Given the description of an element on the screen output the (x, y) to click on. 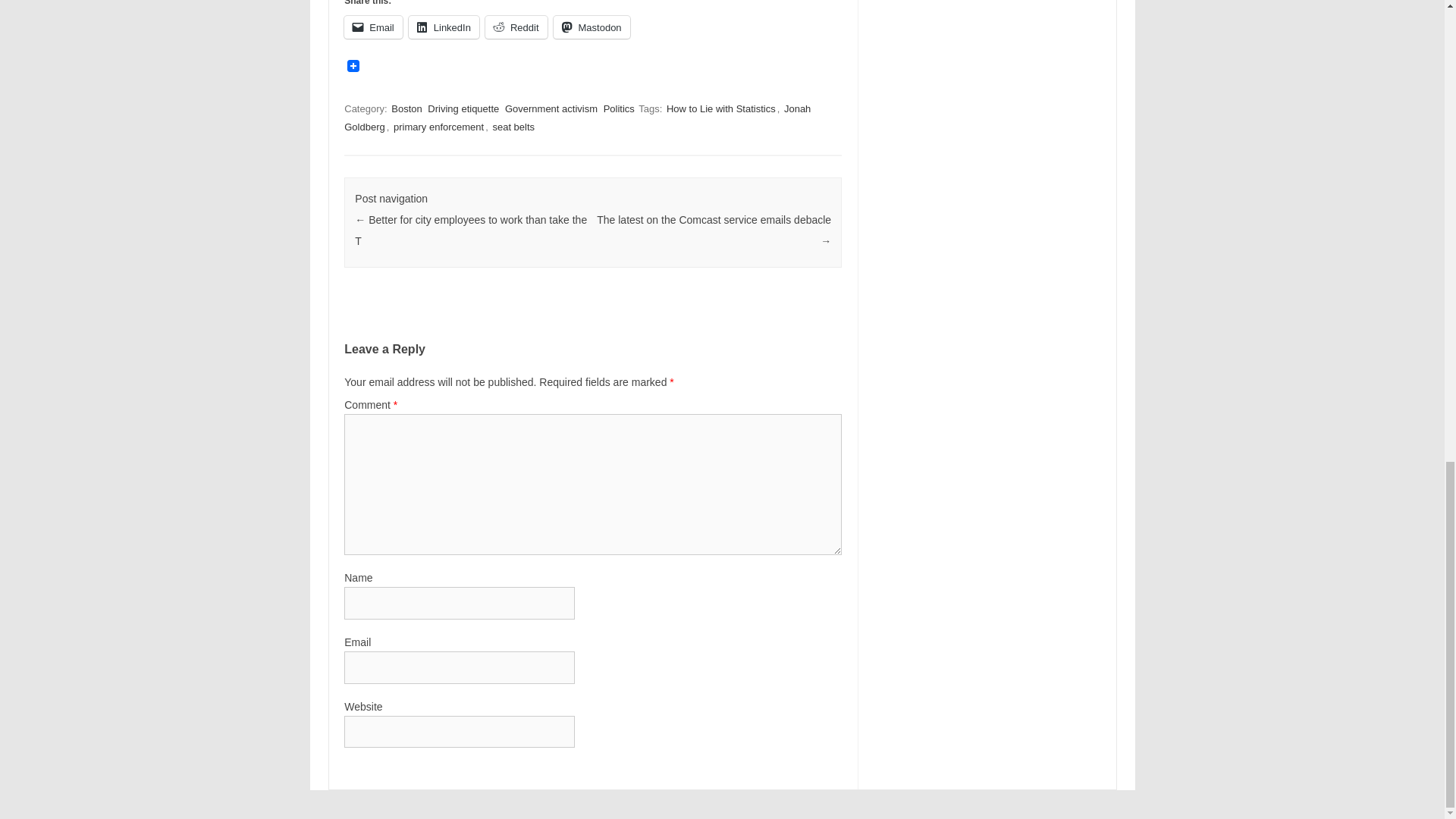
Jonah Goldberg (576, 117)
Click to share on Reddit (515, 26)
Mastodon (591, 26)
Boston (406, 108)
Driving etiquette (463, 108)
How to Lie with Statistics (721, 108)
primary enforcement (437, 126)
Click to share on Mastodon (591, 26)
Government activism (550, 108)
Click to share on LinkedIn (444, 26)
